Given the description of an element on the screen output the (x, y) to click on. 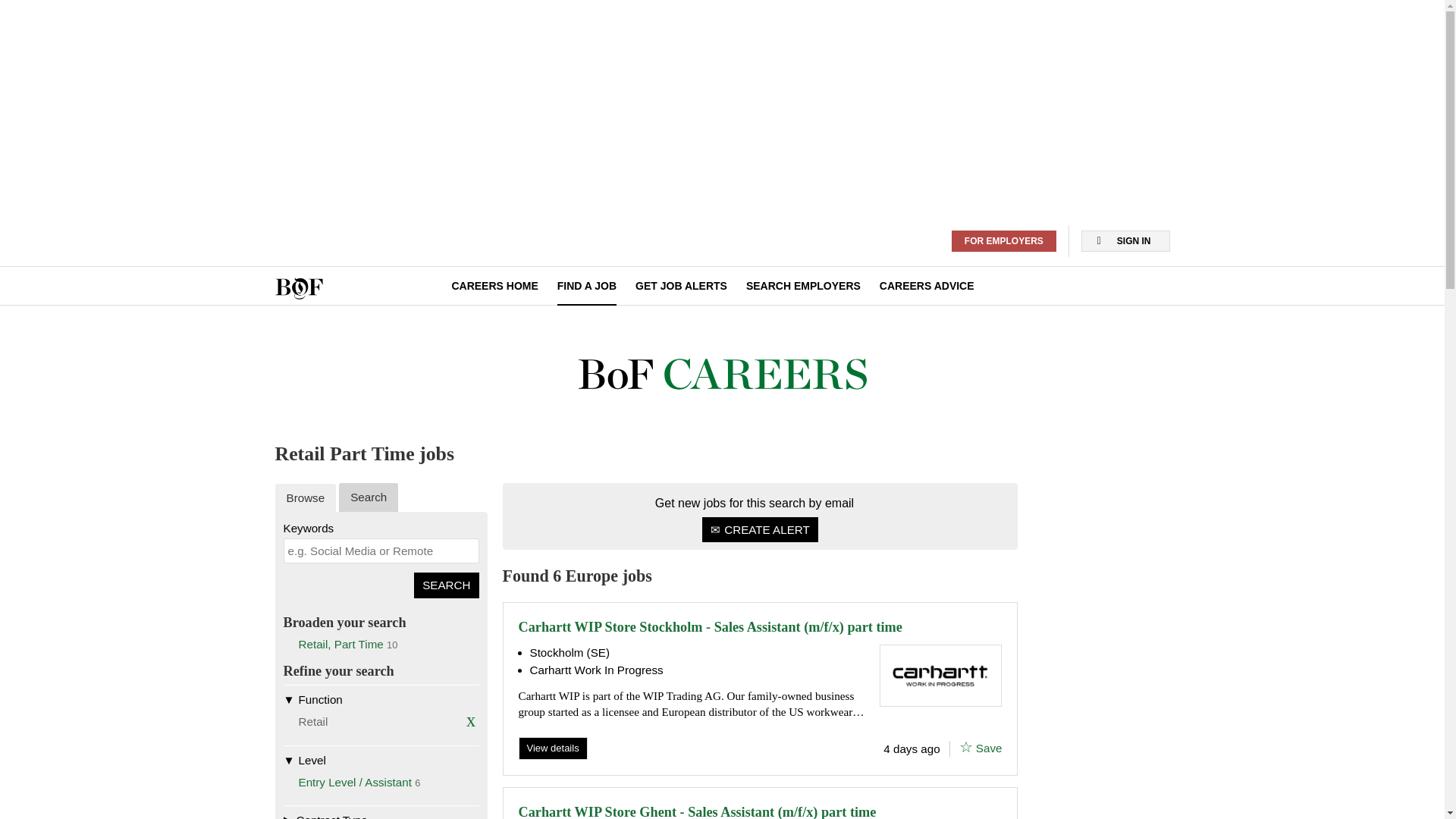
Search (446, 584)
Function (381, 698)
FIND A JOB (586, 285)
FOR EMPLOYERS (1004, 241)
Contract Type (381, 812)
CAREERS HOME (494, 285)
Browse (305, 497)
GET JOB ALERTS (680, 285)
Level (381, 759)
